Given the description of an element on the screen output the (x, y) to click on. 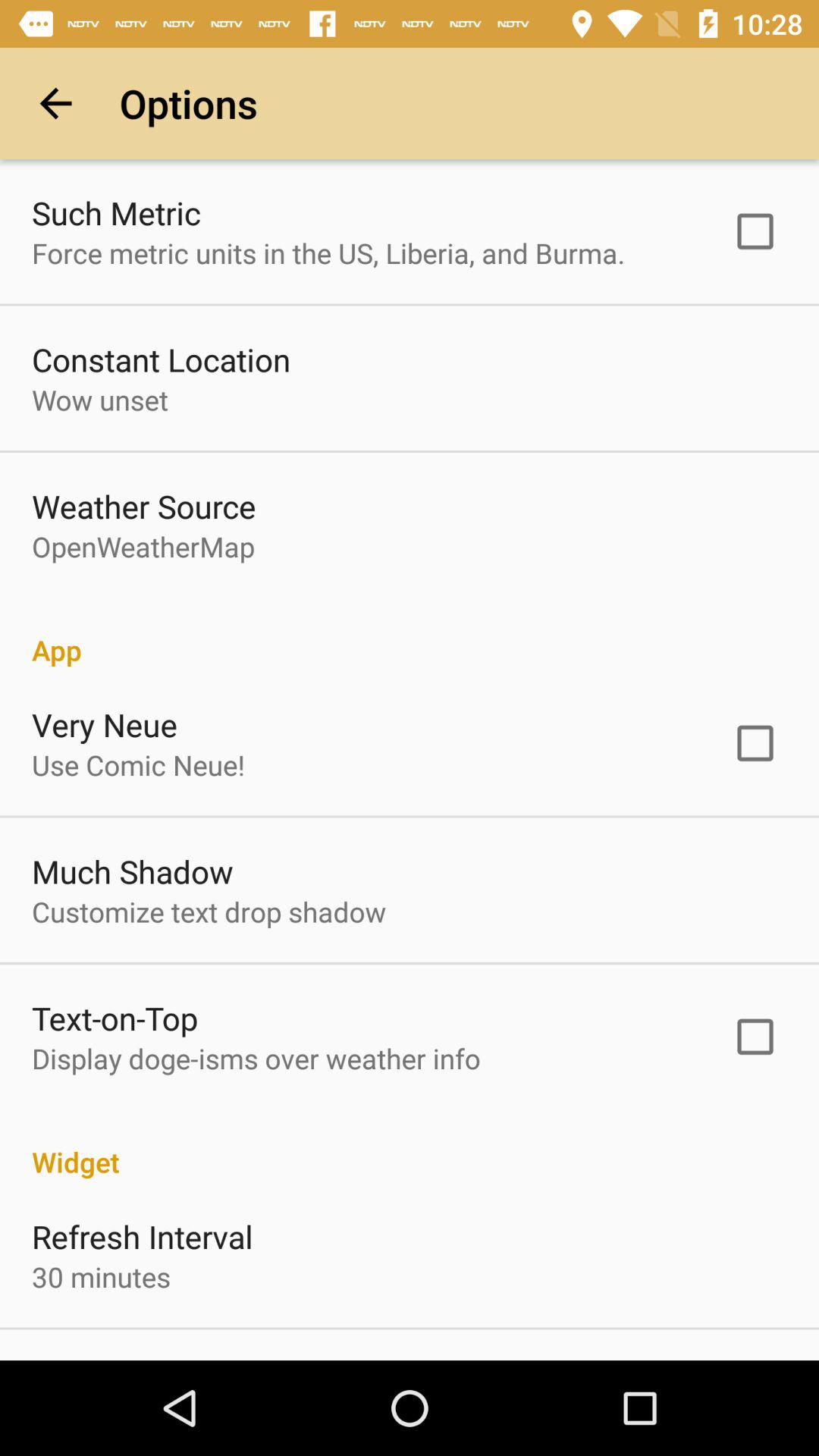
swipe until the display doge isms item (255, 1058)
